Given the description of an element on the screen output the (x, y) to click on. 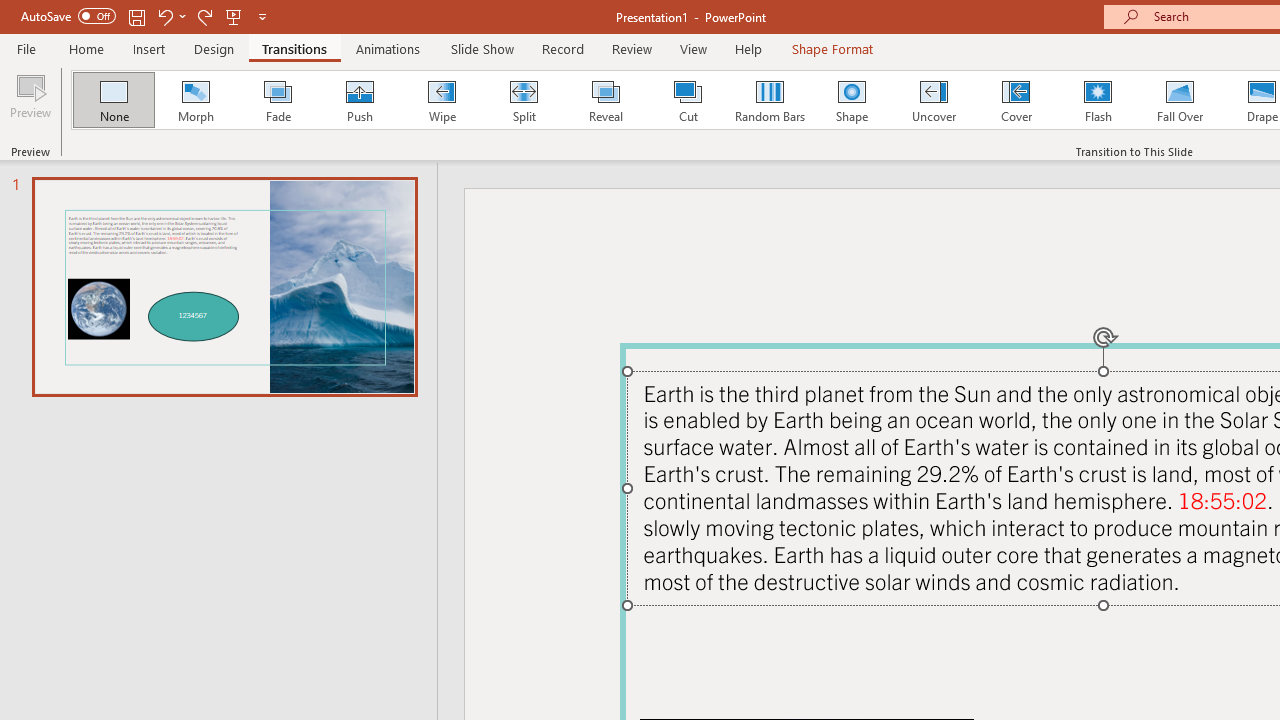
Morph (195, 100)
